Given the description of an element on the screen output the (x, y) to click on. 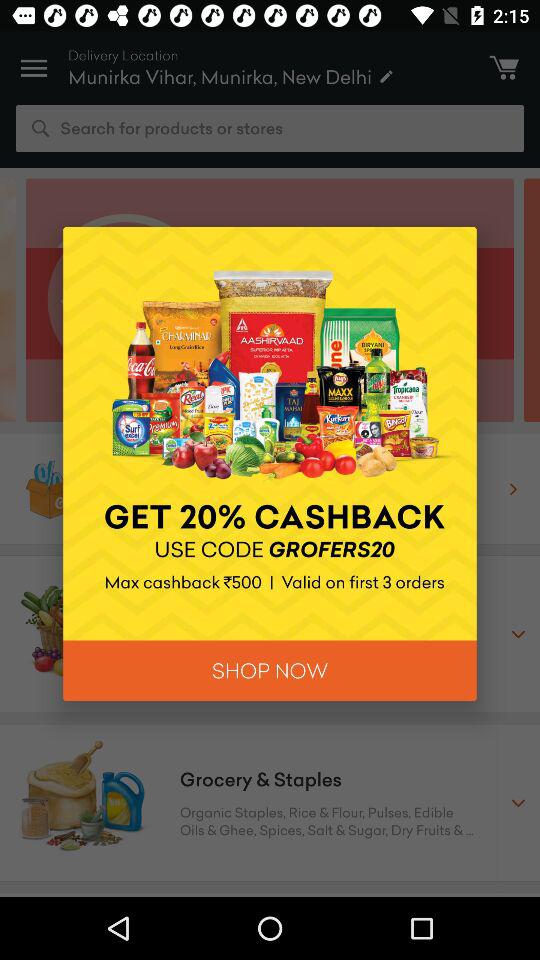
tap item at the bottom (269, 670)
